Given the description of an element on the screen output the (x, y) to click on. 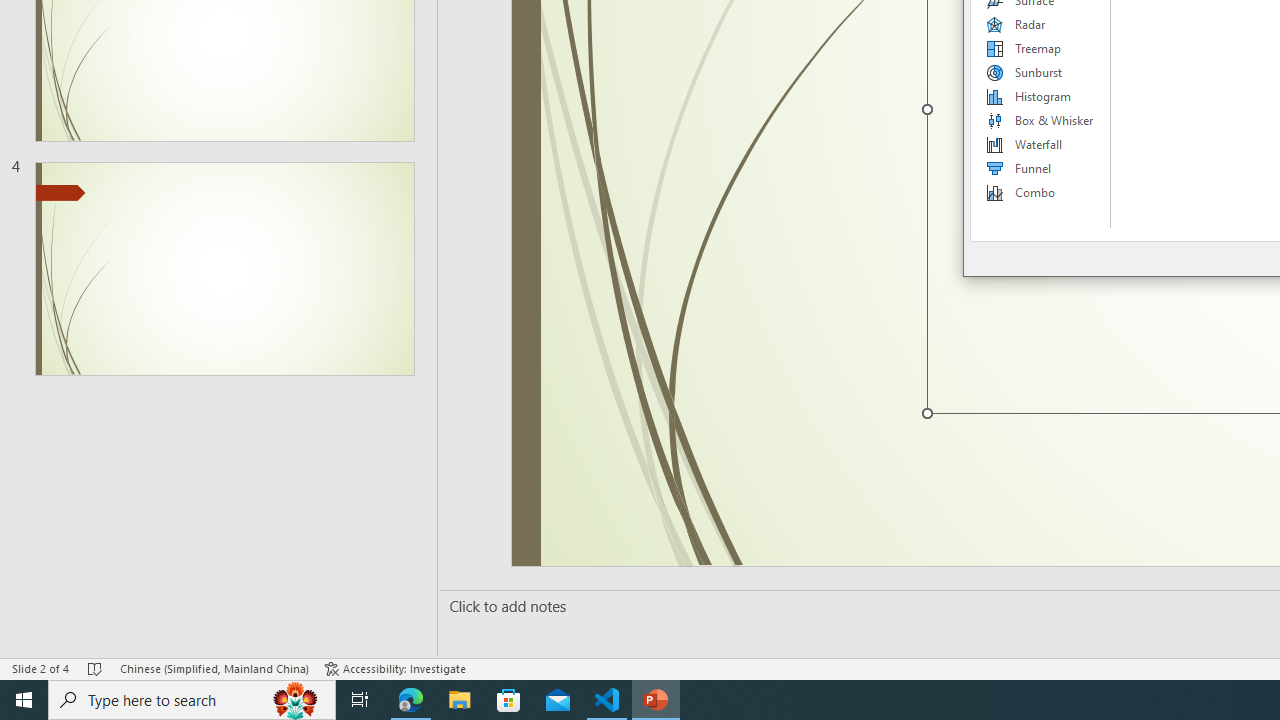
Combo (1041, 192)
Box & Whisker (1041, 120)
Funnel (1041, 168)
Radar (1041, 24)
Sunburst (1041, 72)
Treemap (1041, 48)
